Given the description of an element on the screen output the (x, y) to click on. 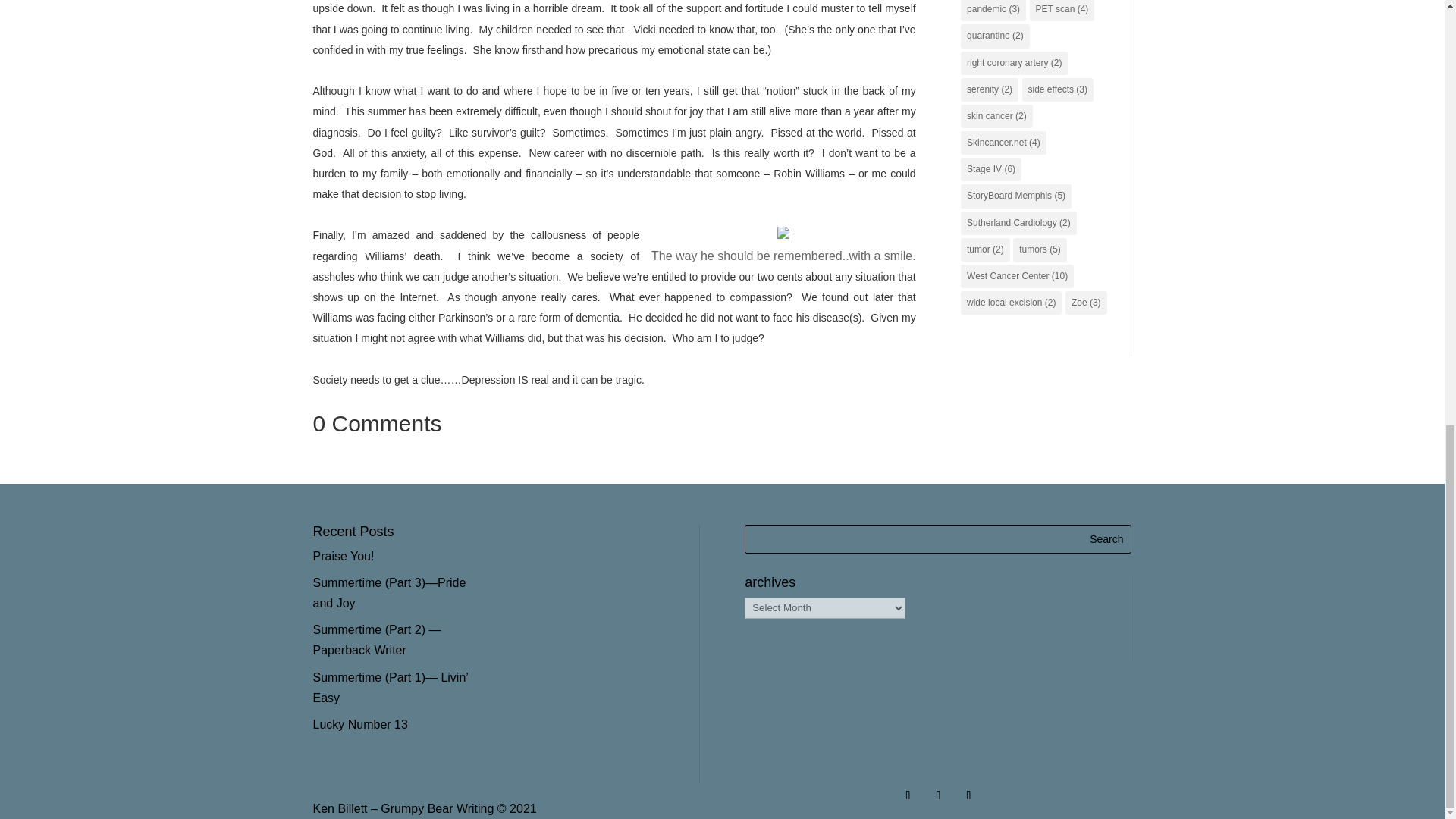
Search (1106, 538)
Follow on Twitter (938, 794)
Follow on Facebook (907, 794)
Search (1106, 538)
Follow on LinkedIn (967, 794)
